Given the description of an element on the screen output the (x, y) to click on. 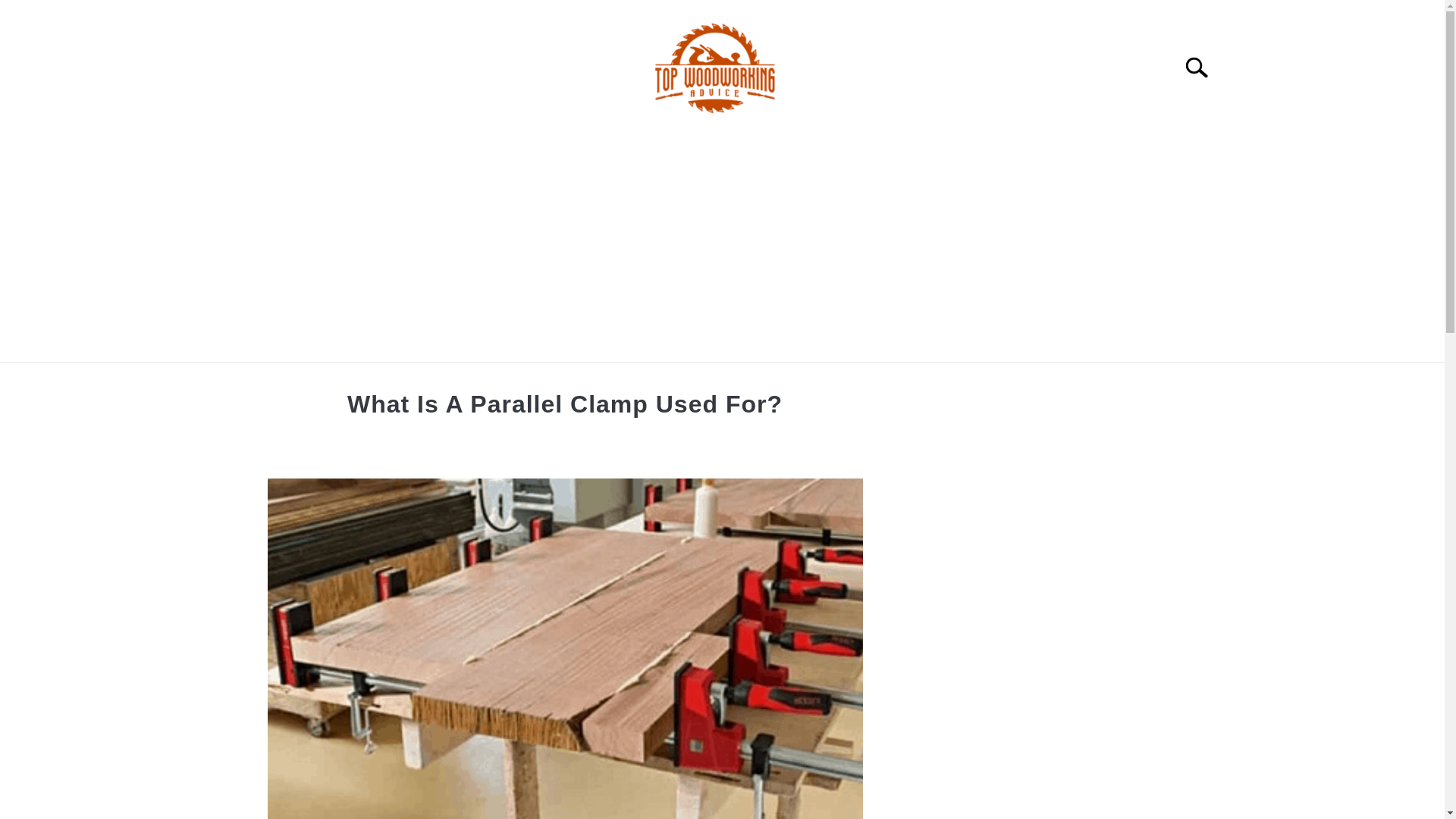
Search (1203, 67)
